Given the description of an element on the screen output the (x, y) to click on. 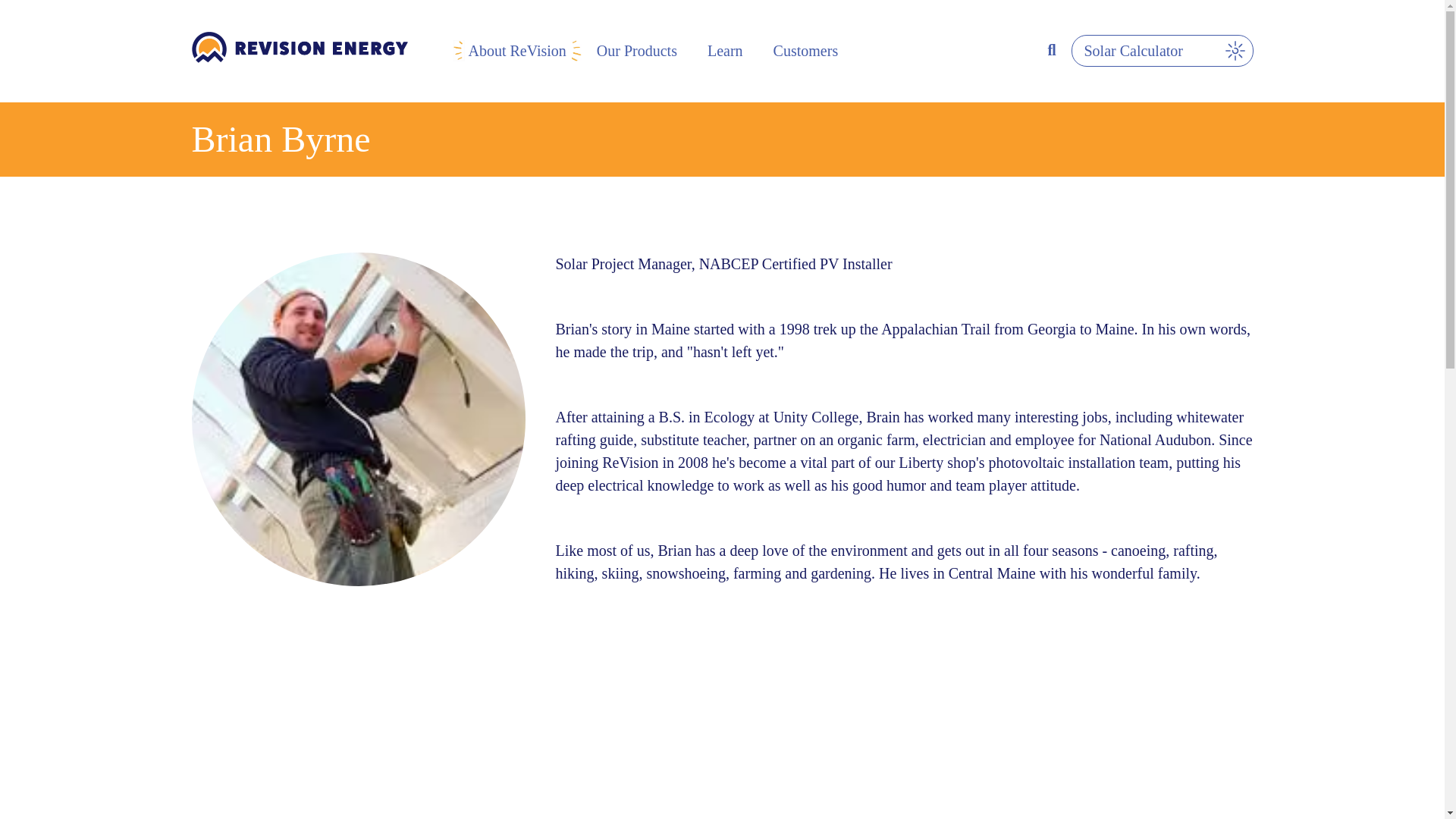
Our Products (636, 50)
About ReVision (517, 50)
